Given the description of an element on the screen output the (x, y) to click on. 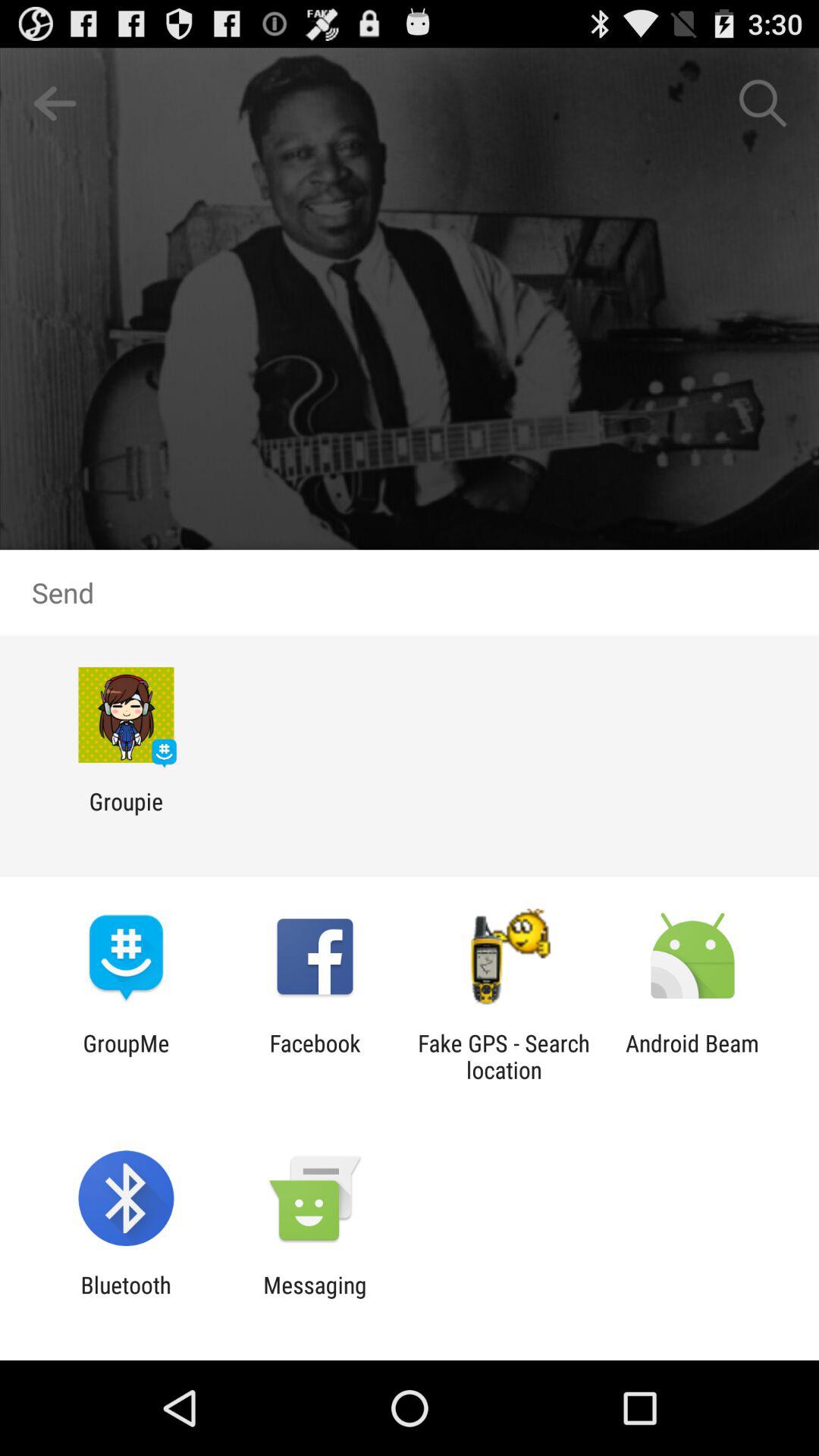
open the item to the left of fake gps search icon (314, 1056)
